Given the description of an element on the screen output the (x, y) to click on. 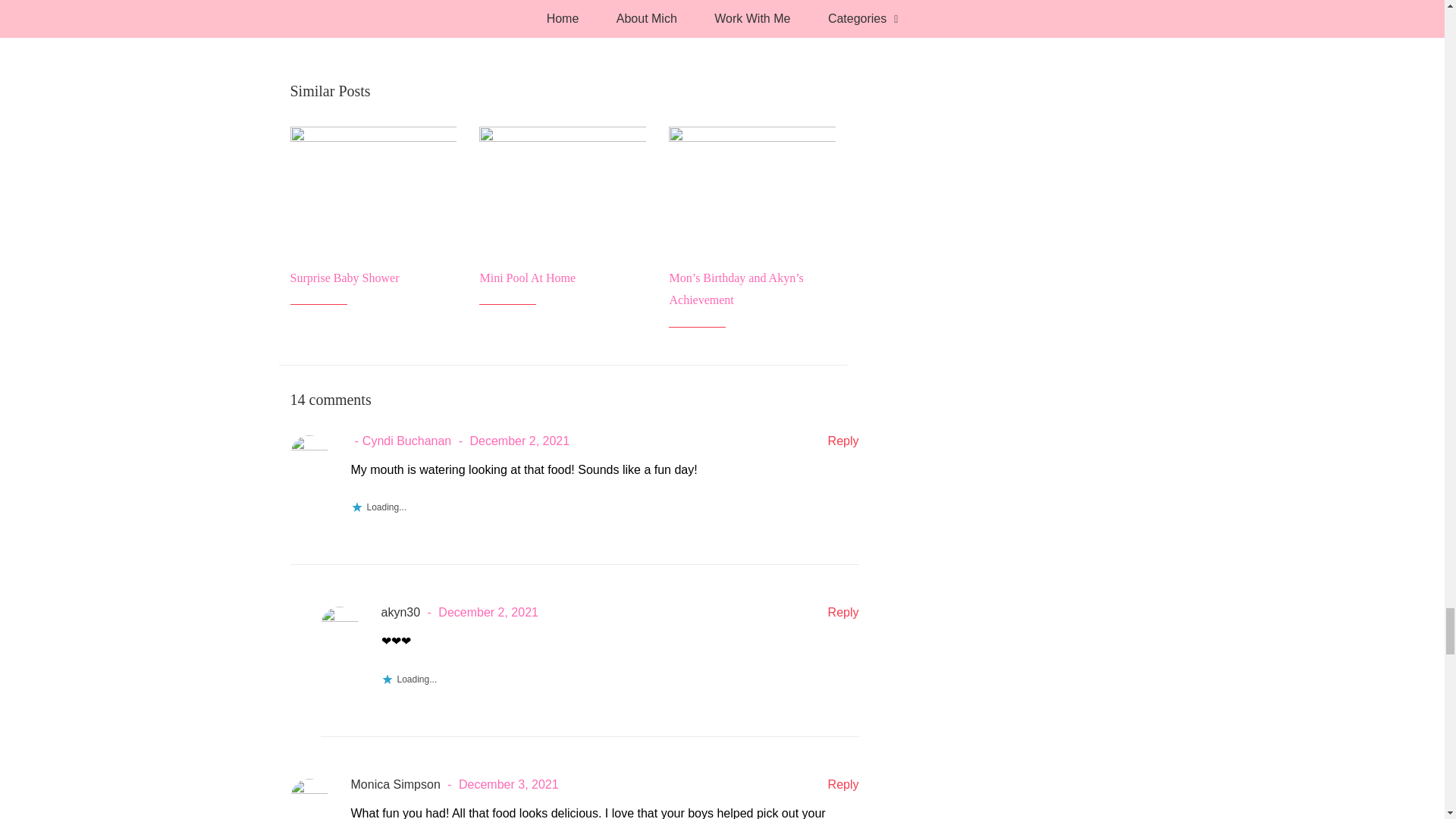
Surprise Baby Shower (343, 277)
Mini Pool At Home (527, 277)
December 2, 2021 (511, 440)
Cyndi Buchanan (400, 440)
